Given the description of an element on the screen output the (x, y) to click on. 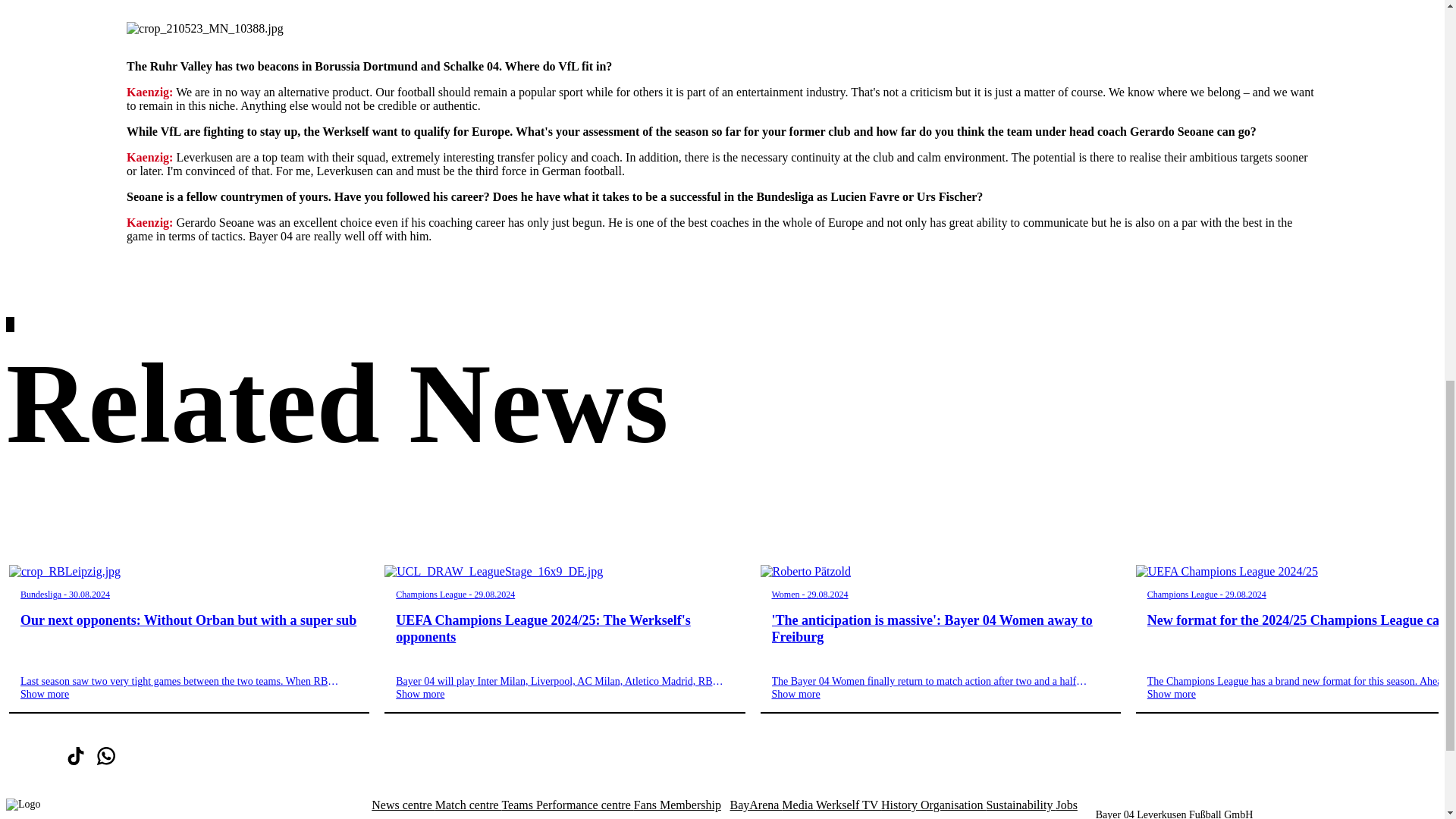
Organisation (952, 804)
News centre (403, 804)
Performance centre (584, 804)
Sustainability (1020, 804)
Match centre (468, 804)
Membership (689, 804)
Werkself TV (847, 804)
Teams (517, 804)
Fans (646, 804)
History (900, 804)
